Given the description of an element on the screen output the (x, y) to click on. 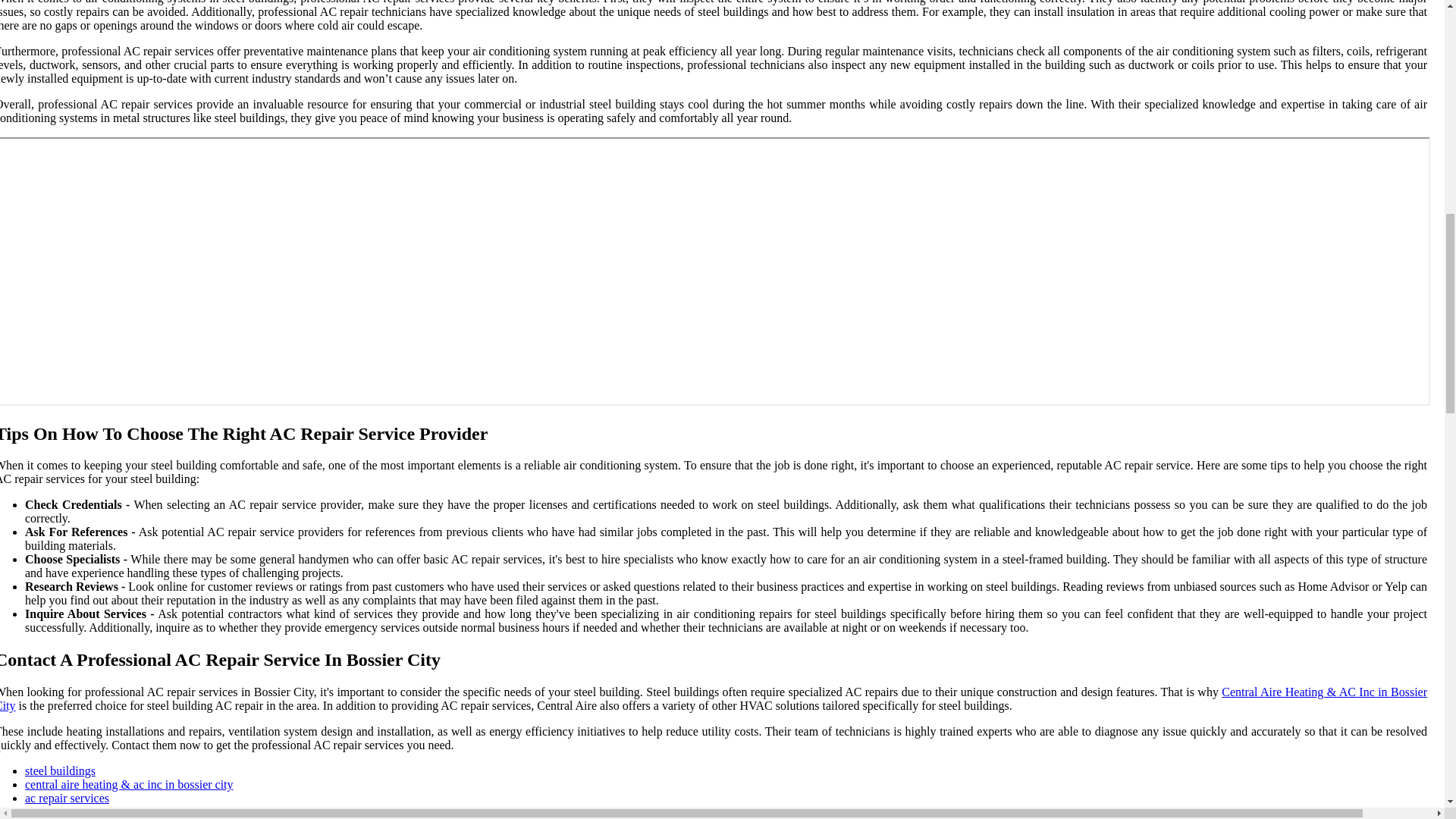
steel buildings (60, 770)
ac repair services (66, 797)
